Given the description of an element on the screen output the (x, y) to click on. 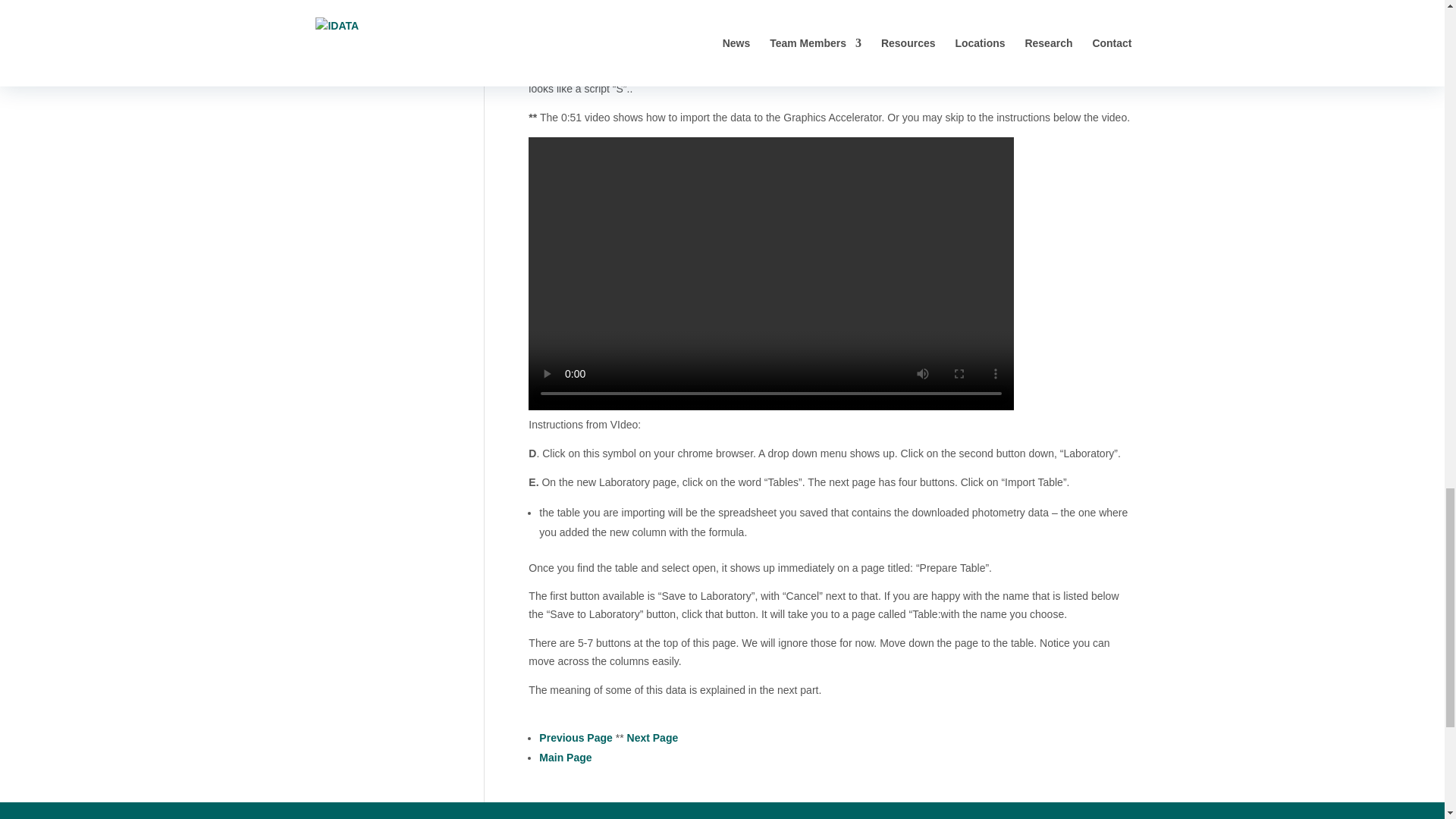
Main Page (564, 757)
SAS extension for Chrome in Web Store (629, 41)
Next Page (652, 737)
Previous Page (575, 737)
